Given the description of an element on the screen output the (x, y) to click on. 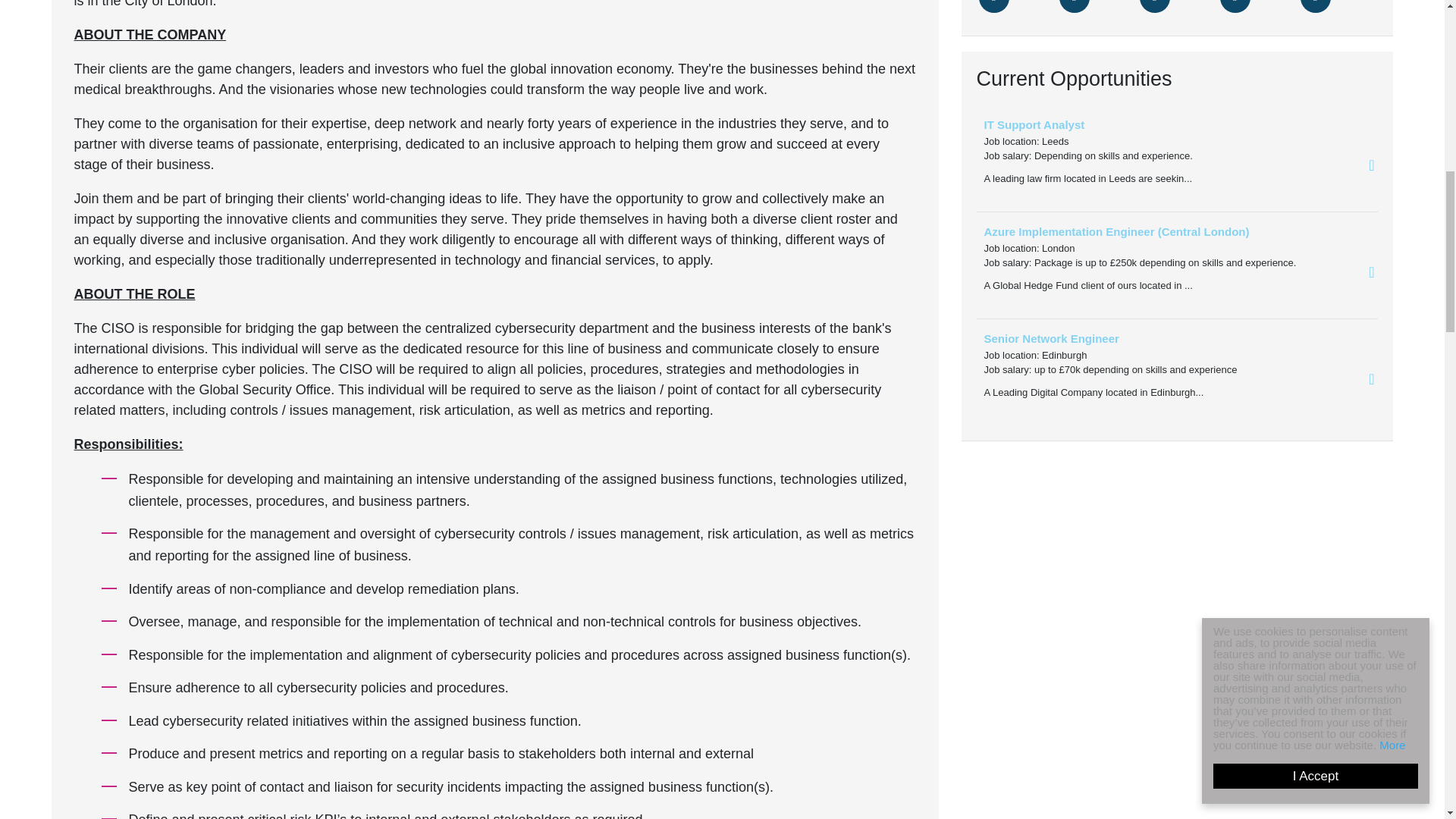
Tweet this (993, 6)
share on Facebook (1073, 6)
share on LinkedIn (1153, 6)
Email (1234, 6)
send in Whatsapp (1315, 6)
